Given the description of an element on the screen output the (x, y) to click on. 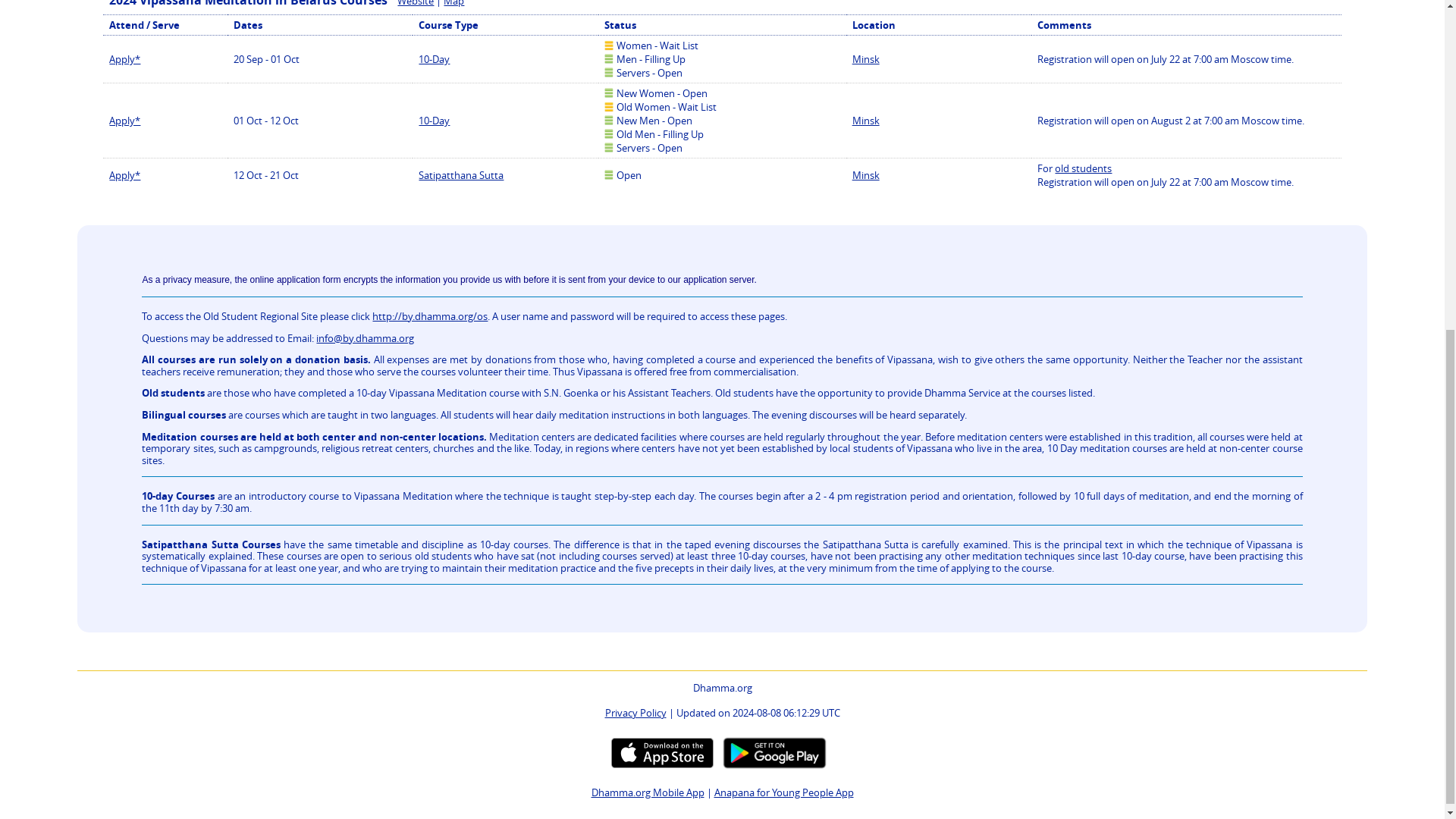
Satipatthana Sutta (461, 174)
old students (1083, 168)
10-Day (434, 120)
Map (454, 3)
Minsk (865, 120)
10-Day (434, 59)
Minsk (865, 59)
Minsk (865, 174)
Website (415, 3)
